Given the description of an element on the screen output the (x, y) to click on. 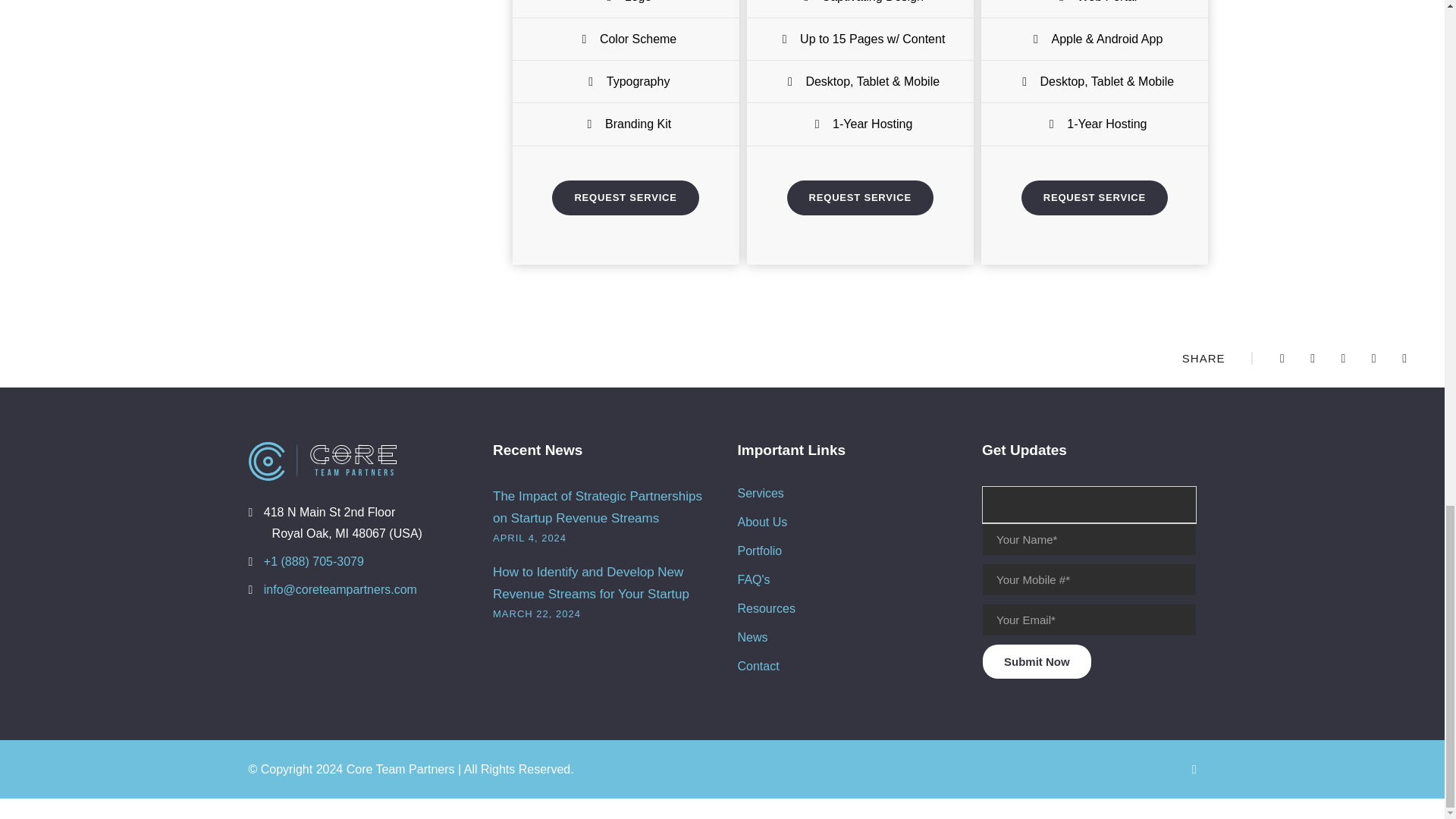
REQUEST SERVICE (624, 197)
REQUEST SERVICE (860, 197)
Submit Now (1036, 661)
REQUEST SERVICE (1094, 197)
